Given the description of an element on the screen output the (x, y) to click on. 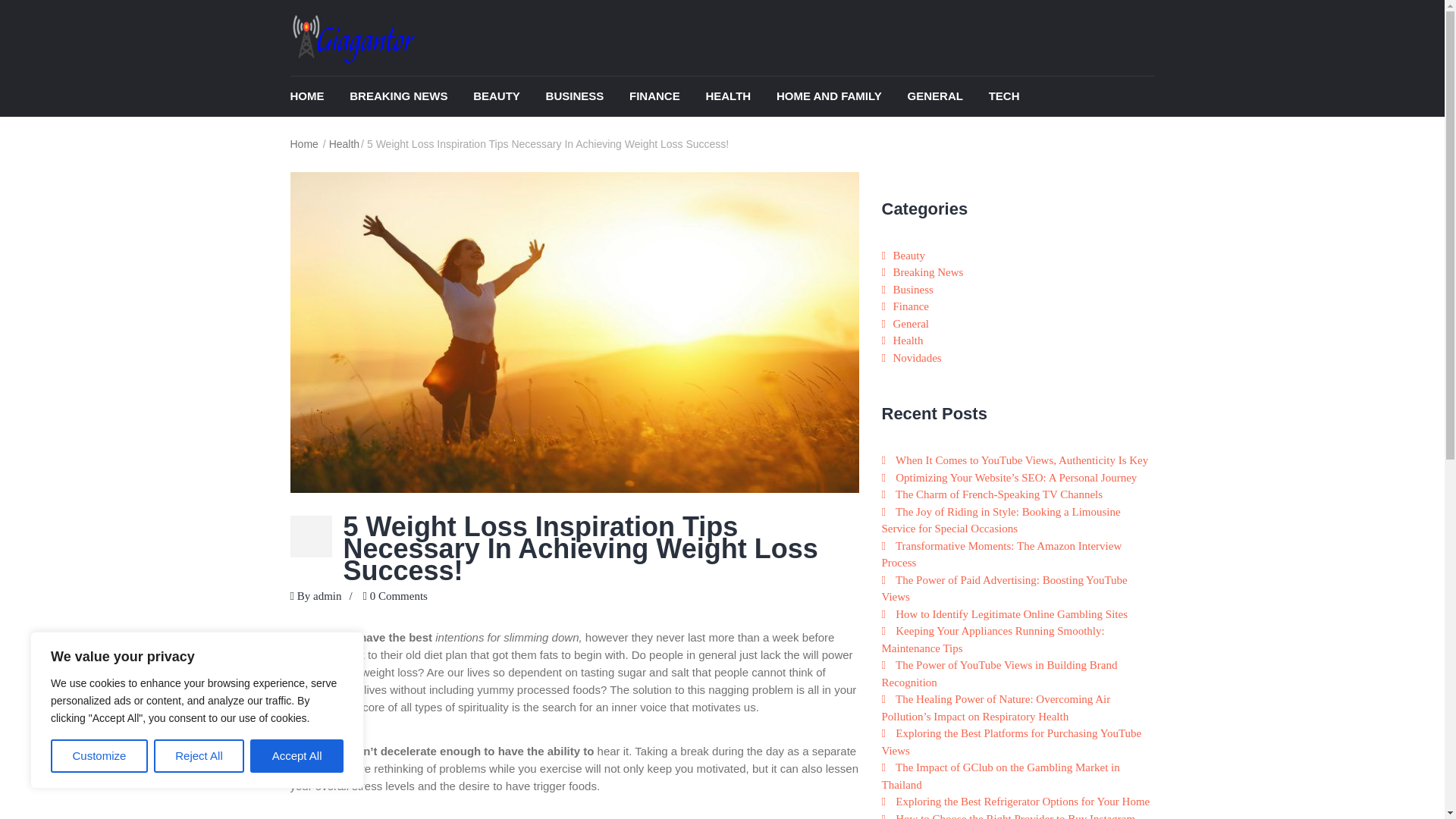
GENERAL (946, 96)
0 Comments (398, 595)
Customize (99, 756)
HOME (317, 96)
General (946, 96)
BEAUTY (508, 96)
Beauty (508, 96)
When It Comes to YouTube Views, Authenticity Is Key (1021, 460)
Novidades (917, 357)
Reject All (199, 756)
